Given the description of an element on the screen output the (x, y) to click on. 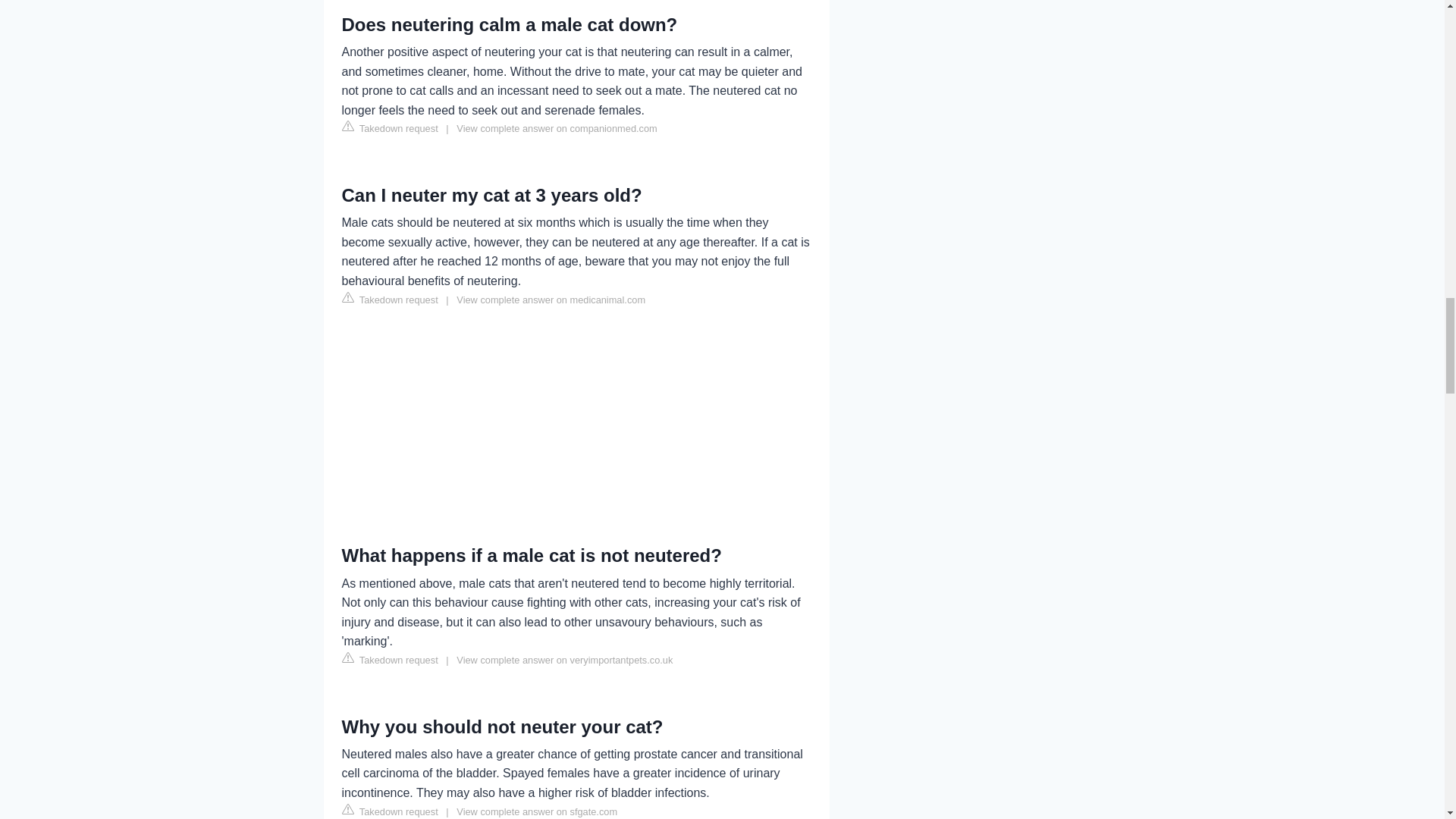
View complete answer on sfgate.com (537, 811)
Takedown request (389, 299)
Takedown request (389, 811)
View complete answer on medicanimal.com (551, 299)
View complete answer on veryimportantpets.co.uk (564, 659)
Takedown request (389, 127)
Takedown request (389, 659)
View complete answer on companionmed.com (556, 128)
